Given the description of an element on the screen output the (x, y) to click on. 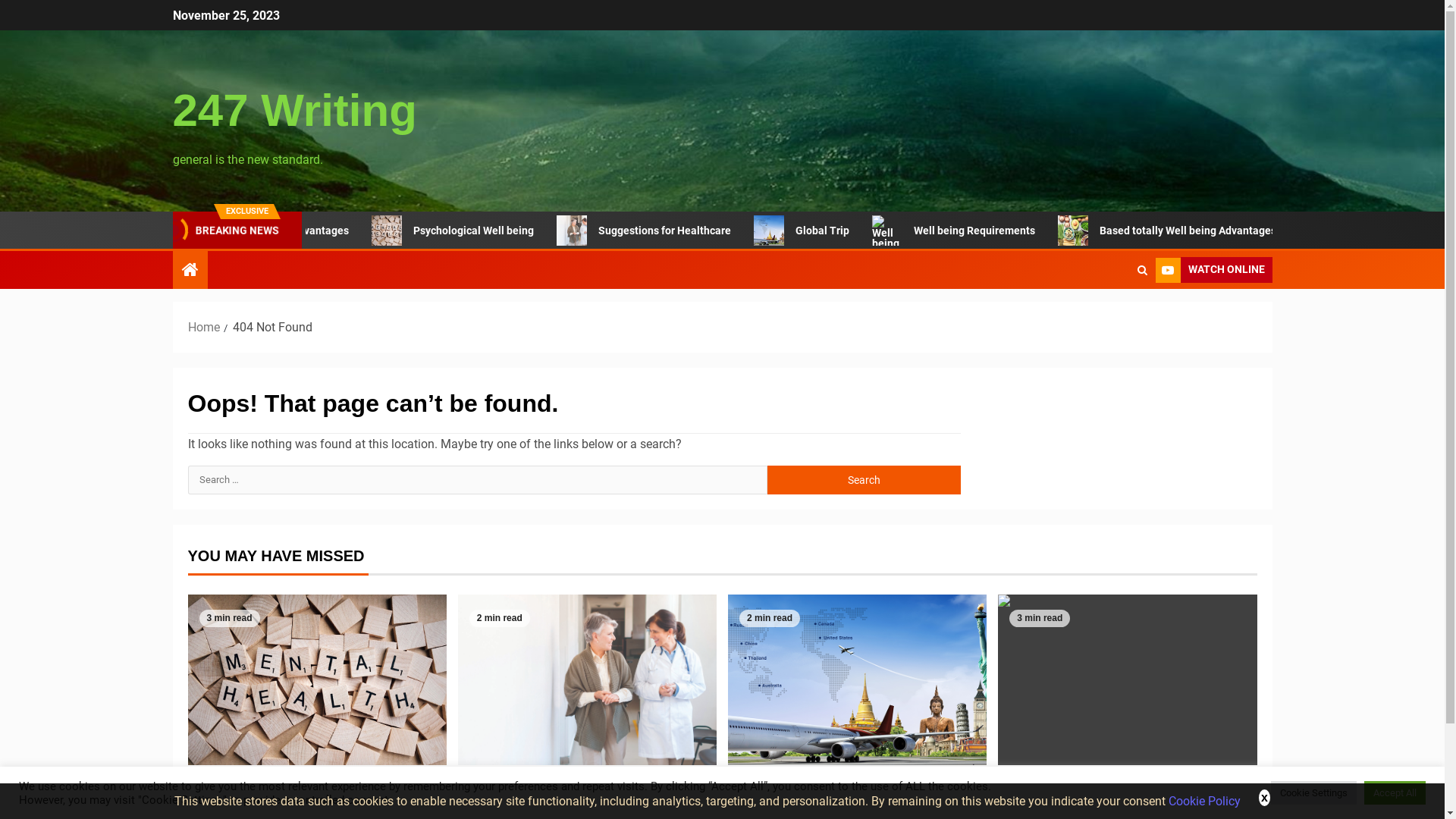
247 Writing Element type: text (294, 109)
Suggestions for Healthcare Element type: hover (587, 679)
TRAVELING Element type: text (748, 784)
Based totally Well being Advantages Element type: hover (1076, 230)
Search Element type: text (1112, 315)
Psychological Well being Element type: text (478, 230)
HEALTH Element type: text (202, 784)
Well being Requirements Element type: hover (1126, 679)
Based totally Well being Advantages Element type: text (1191, 230)
HEALTH Element type: text (1011, 784)
Global Trip Element type: hover (774, 230)
Suggestions for Healthcare Element type: text (669, 230)
Global Trip Element type: text (771, 807)
Psychological Well being Element type: text (288, 807)
Home Element type: text (203, 327)
Cookie Policy Element type: text (1204, 800)
Well being Requirements Element type: hover (891, 237)
x Element type: text (1264, 797)
Suggestions for Healthcare Element type: text (566, 807)
Based totally Well being Advantages Element type: text (265, 230)
Accept All Element type: text (1394, 792)
Psychological Well being Element type: hover (392, 230)
Global Trip Element type: text (827, 230)
Cookie Settings Element type: text (1313, 792)
Search Element type: hover (1141, 269)
Global Trip Element type: hover (857, 679)
Search Element type: text (863, 479)
Well being Requirements Element type: text (978, 230)
WATCH ONLINE Element type: text (1213, 269)
HEALTH Element type: text (472, 784)
Well being Requirements Element type: text (1096, 807)
Psychological Well being Element type: hover (317, 679)
Suggestions for Healthcare Element type: hover (576, 230)
